Given the description of an element on the screen output the (x, y) to click on. 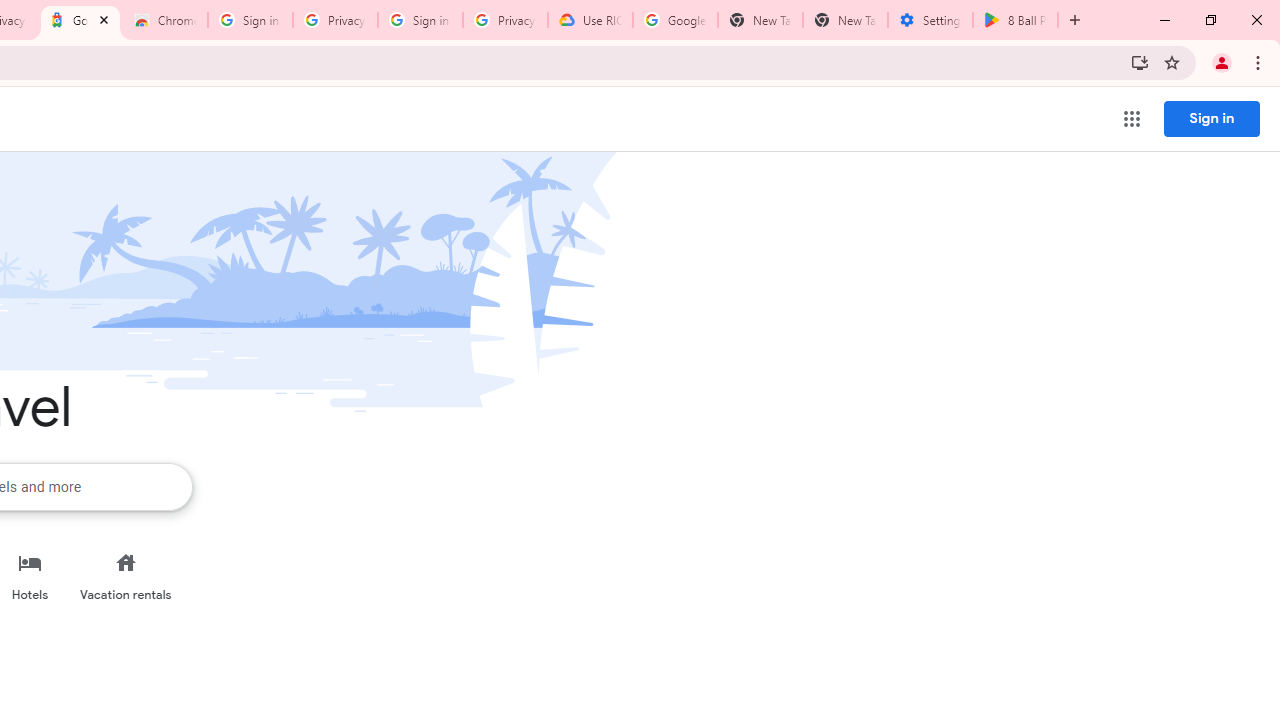
Vacation rentals (125, 576)
Vacation rentals (125, 576)
Install Trips all in one place (1139, 62)
Google (80, 20)
